Given the description of an element on the screen output the (x, y) to click on. 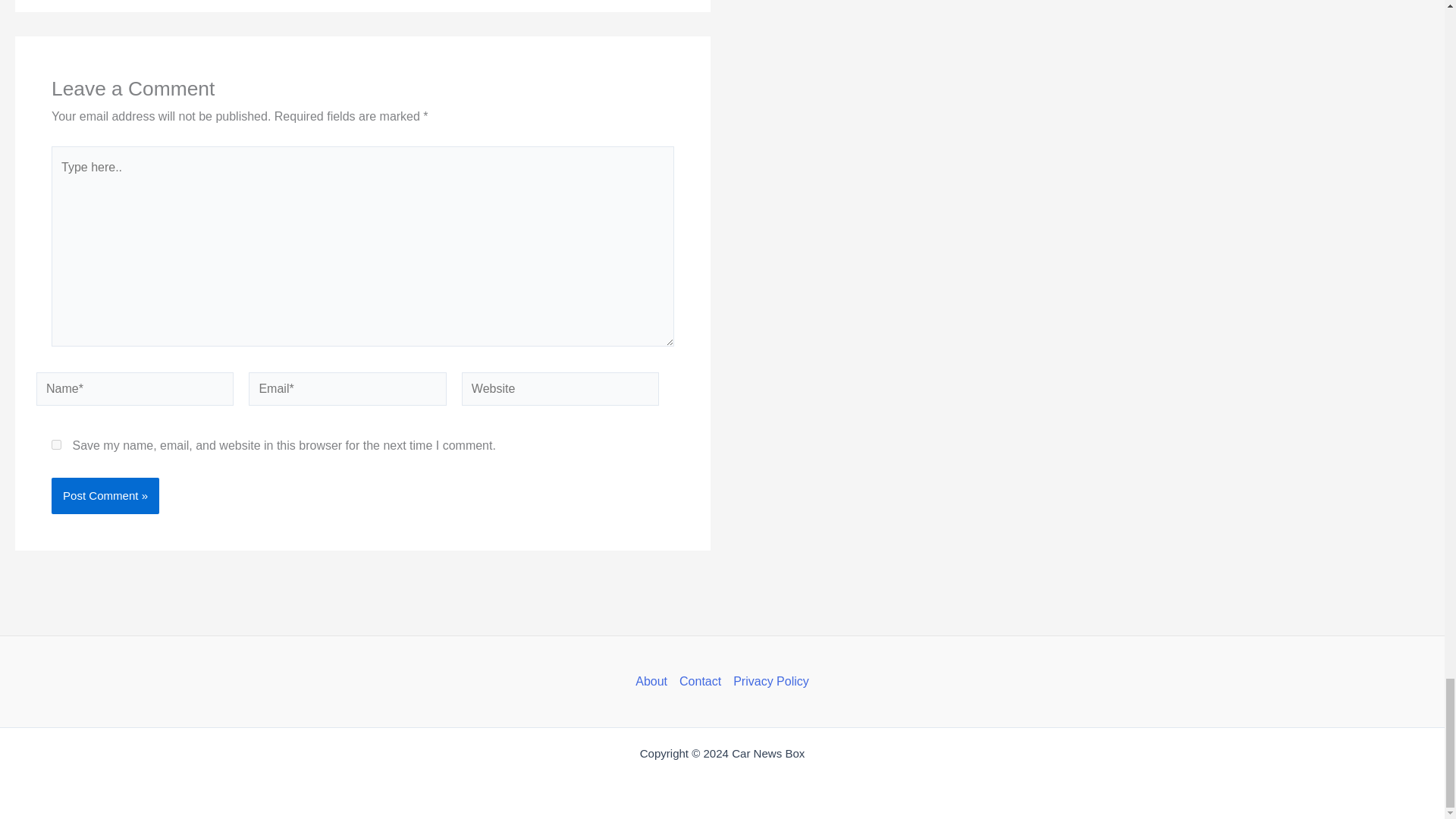
Contact (699, 681)
About (653, 681)
yes (55, 444)
Privacy Policy (767, 681)
